Given the description of an element on the screen output the (x, y) to click on. 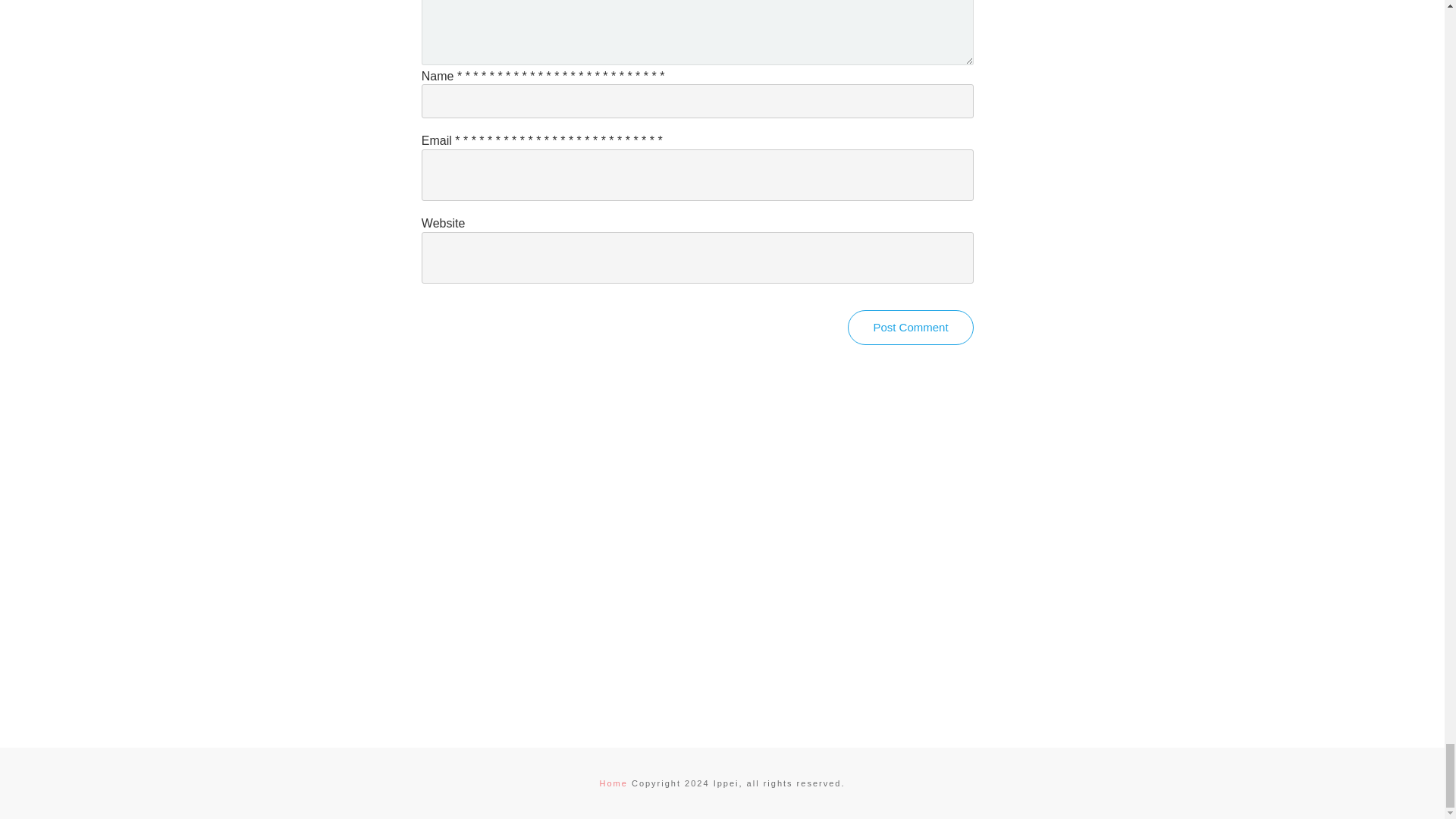
Post Comment (909, 327)
Home (613, 782)
